Given the description of an element on the screen output the (x, y) to click on. 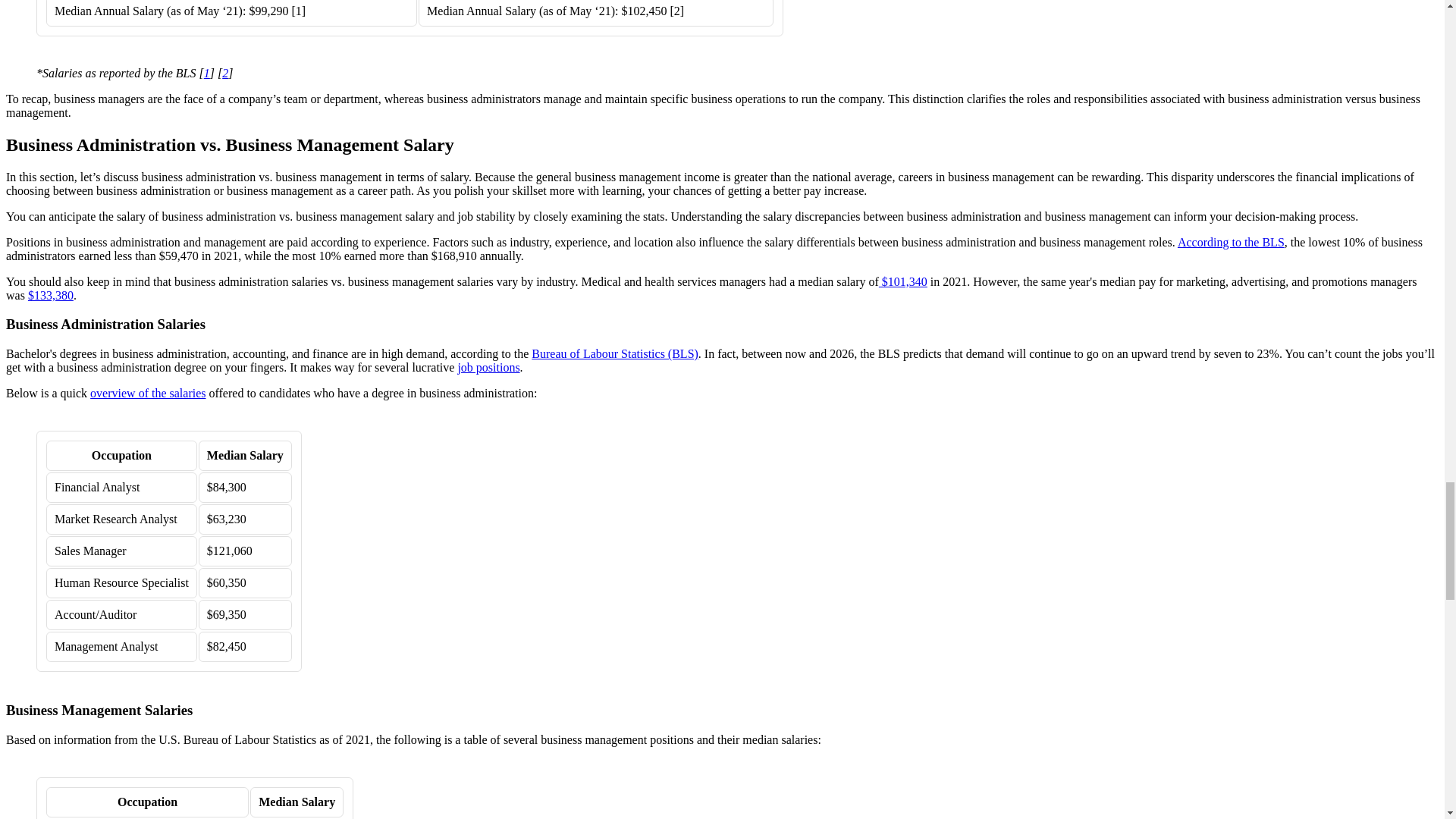
According to the BLS (1230, 241)
overview of the salaries (147, 392)
job positions (488, 367)
